Given the description of an element on the screen output the (x, y) to click on. 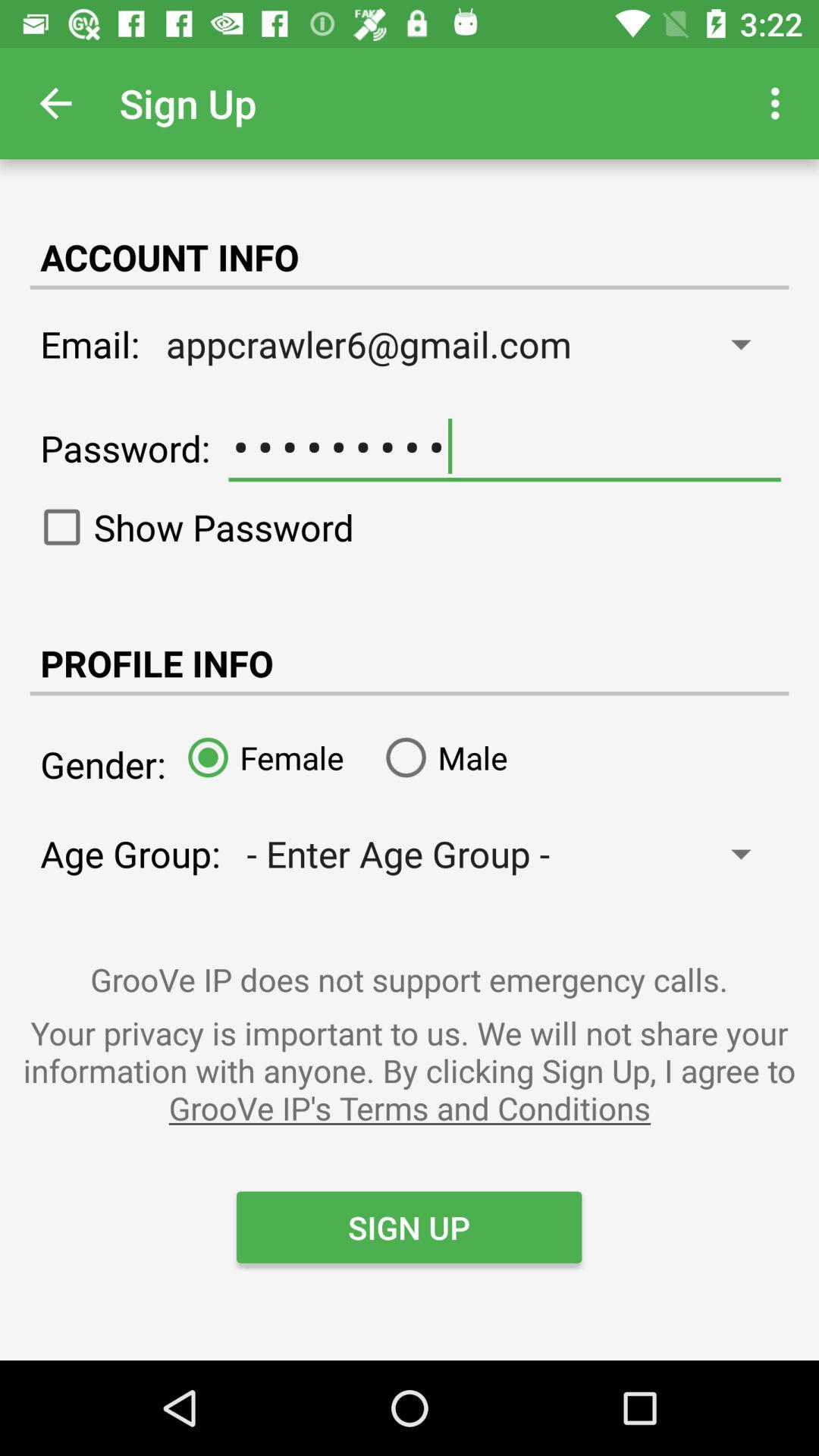
swipe to show password (191, 527)
